Given the description of an element on the screen output the (x, y) to click on. 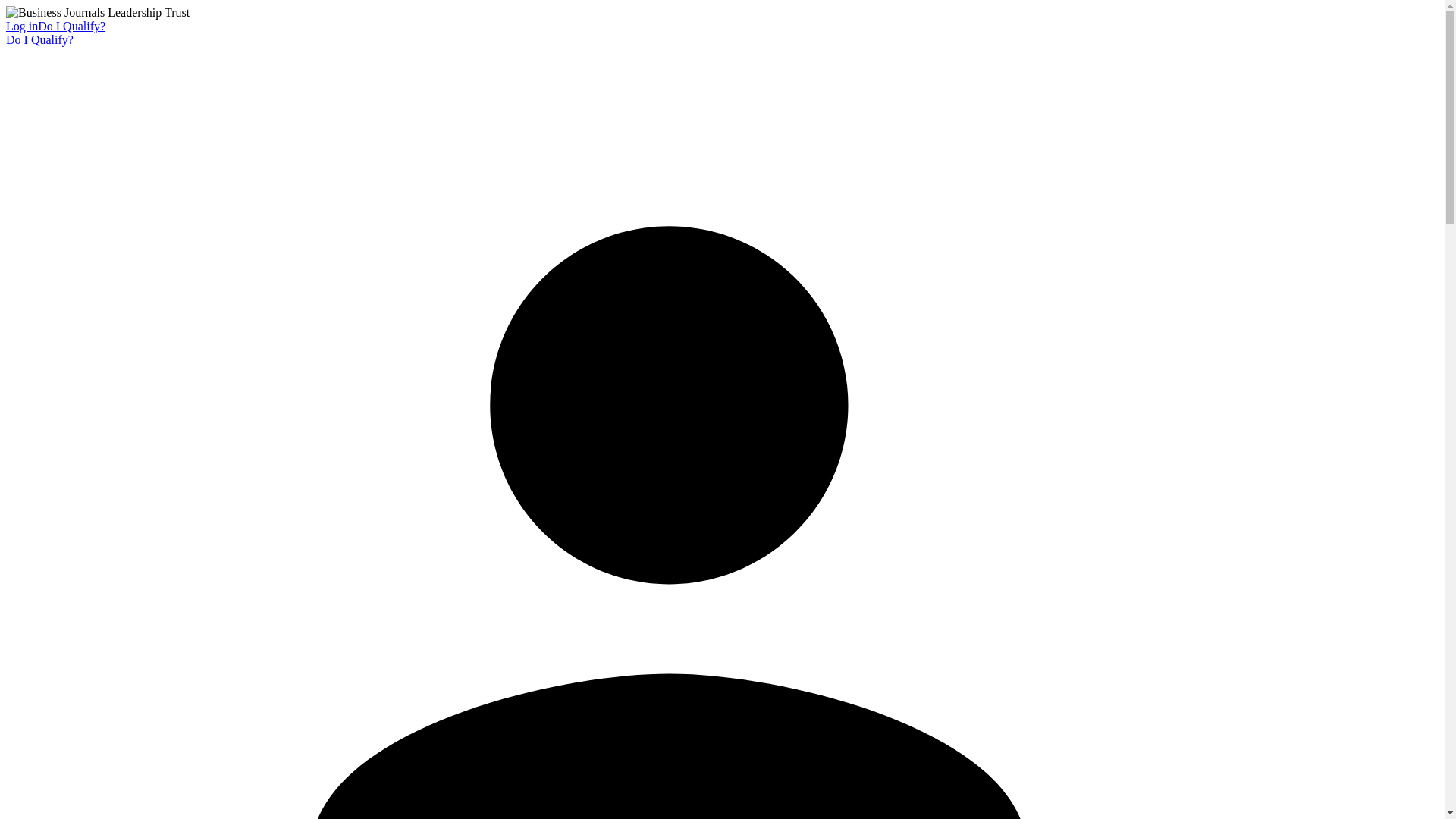
Log in (21, 25)
Do I Qualify? (39, 39)
Do I Qualify? (70, 25)
